Given the description of an element on the screen output the (x, y) to click on. 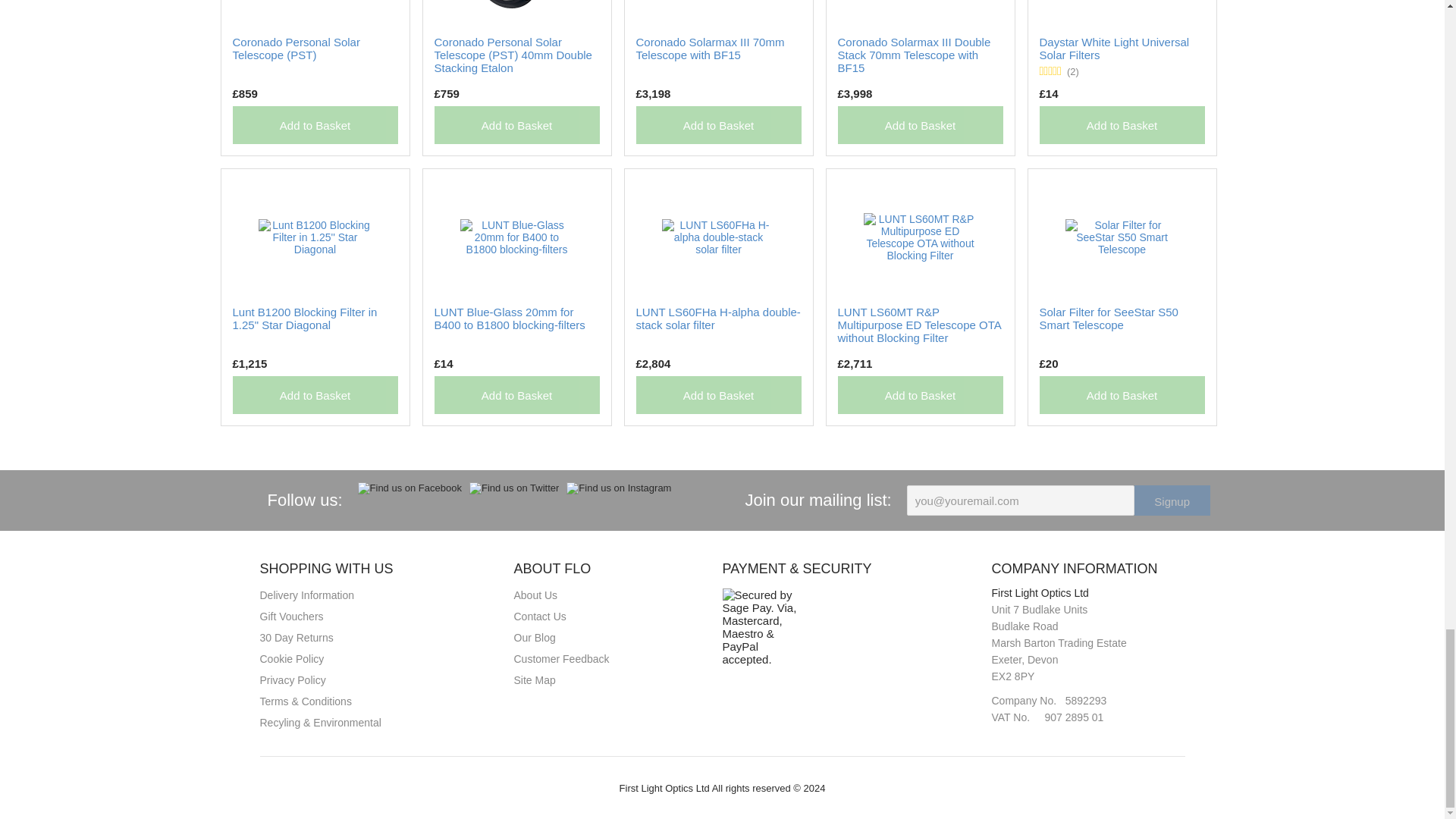
Coronado Solarmax III Double Stack 70mm Telescope with BF15 (913, 55)
Add to Basket (717, 125)
Daystar White Light Universal Solar Filters (1114, 48)
Add to Basket (314, 394)
Add to Basket (515, 125)
Daystar White Light Universal Solar Filters (1114, 48)
Lunt B1200 Blocking Filter in 1.25" Star Diagonal (304, 318)
Coronado Solarmax III Double Stack 70mm Telescope with BF15 (913, 55)
Add to Basket (314, 125)
Coronado Solarmax III 70mm Telescope with BF15 (709, 48)
Coronado Solarmax III 70mm Telescope with BF15 (709, 48)
Add to Basket (1121, 125)
Add to Basket (920, 125)
